Given the description of an element on the screen output the (x, y) to click on. 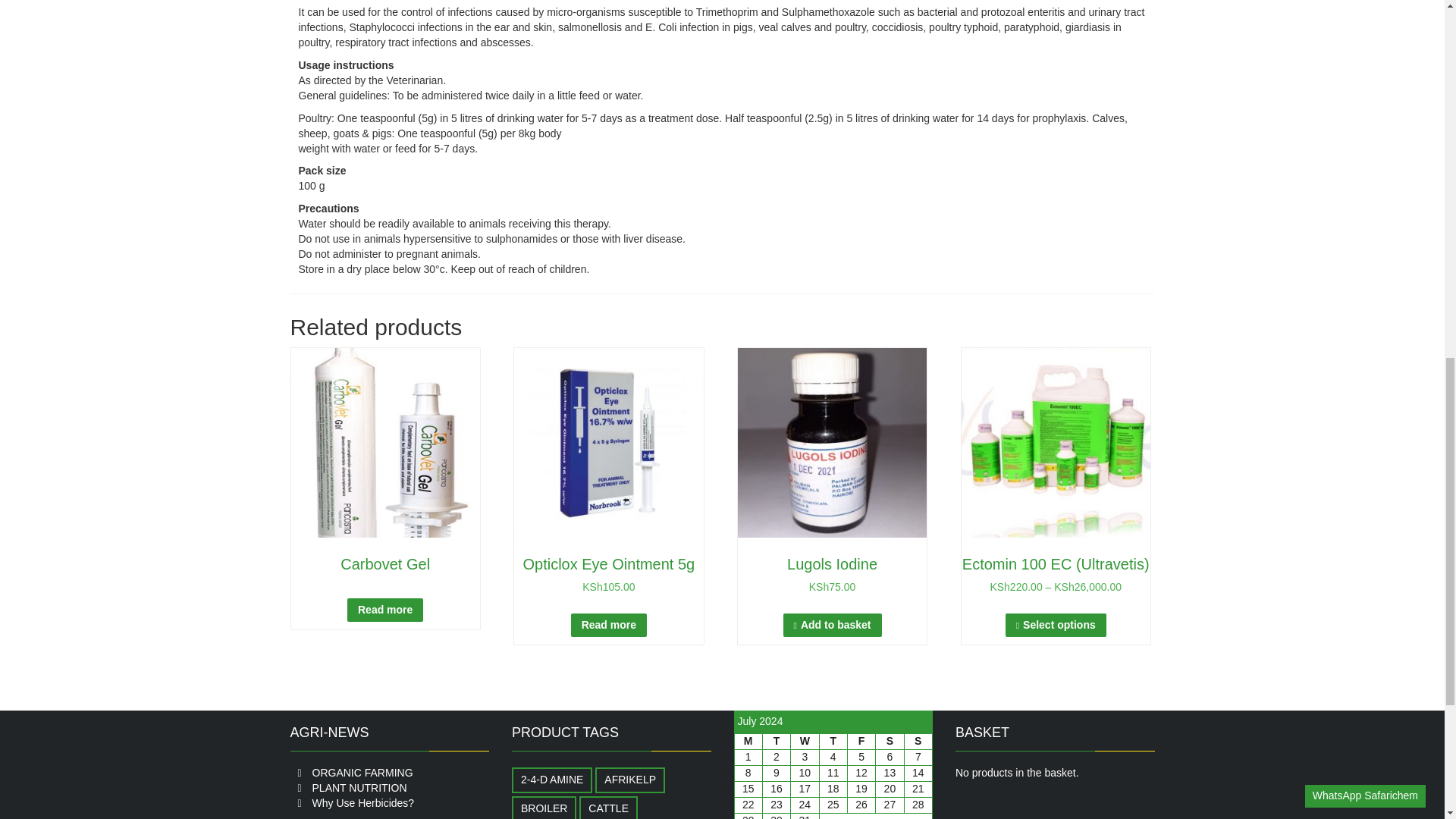
Tuesday (775, 741)
Sunday (917, 741)
Monday (747, 741)
Add to basket (832, 625)
Read more (608, 625)
Friday (861, 741)
Wednesday (804, 741)
Saturday (890, 741)
Read more (385, 609)
Thursday (832, 741)
